Given the description of an element on the screen output the (x, y) to click on. 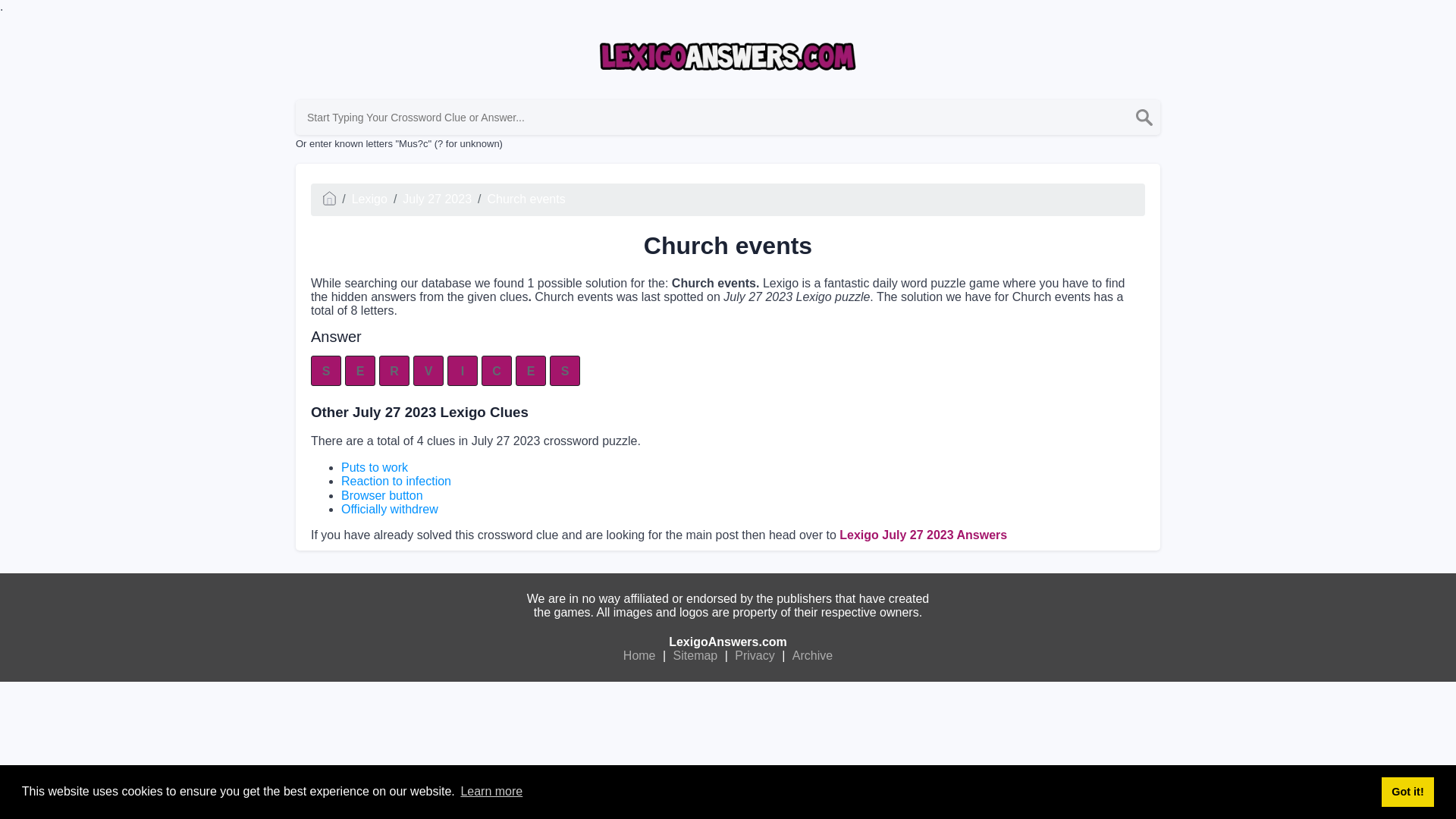
Sitemap (695, 655)
LexigoAnswers.com (727, 641)
Lexigo July 27 2023 Answers (923, 534)
Officially withdrew (389, 508)
Lexigo (369, 198)
Church events (526, 198)
Archive (812, 655)
Browser button (381, 495)
Puts to work (373, 467)
Privacy (753, 655)
July 27 2023 (437, 198)
Reaction to infection (395, 481)
Home (639, 655)
